Given the description of an element on the screen output the (x, y) to click on. 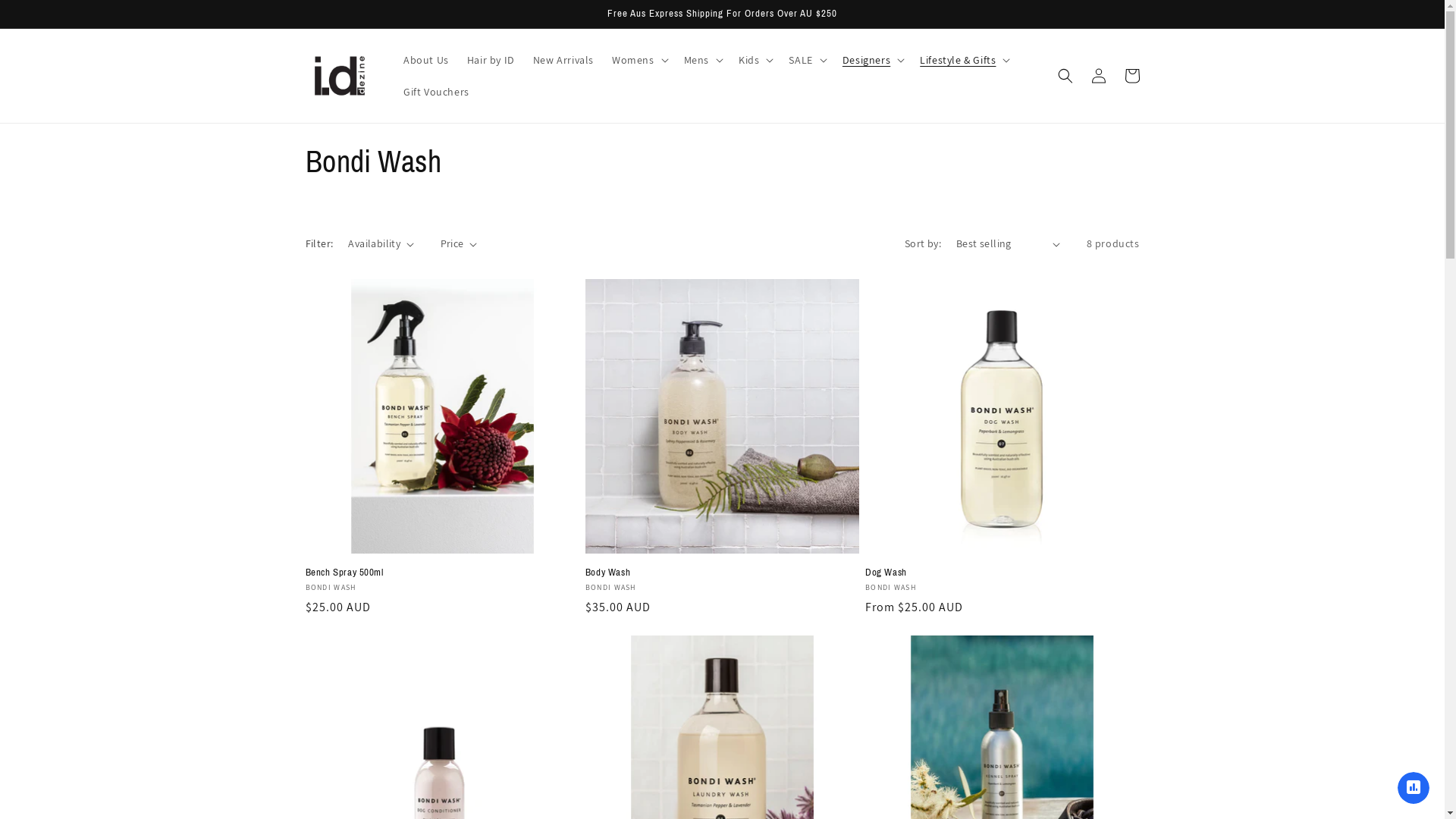
Hair by ID Element type: text (491, 59)
About Us Element type: text (426, 59)
zigpoll-iframe Element type: hover (1413, 787)
Body Wash Element type: text (722, 572)
Cart Element type: text (1131, 75)
Bench Spray 500ml Element type: text (441, 572)
Gift Vouchers Element type: text (436, 91)
New Arrivals Element type: text (563, 59)
Log in Element type: text (1097, 75)
Dog Wash Element type: text (1002, 572)
